Given the description of an element on the screen output the (x, y) to click on. 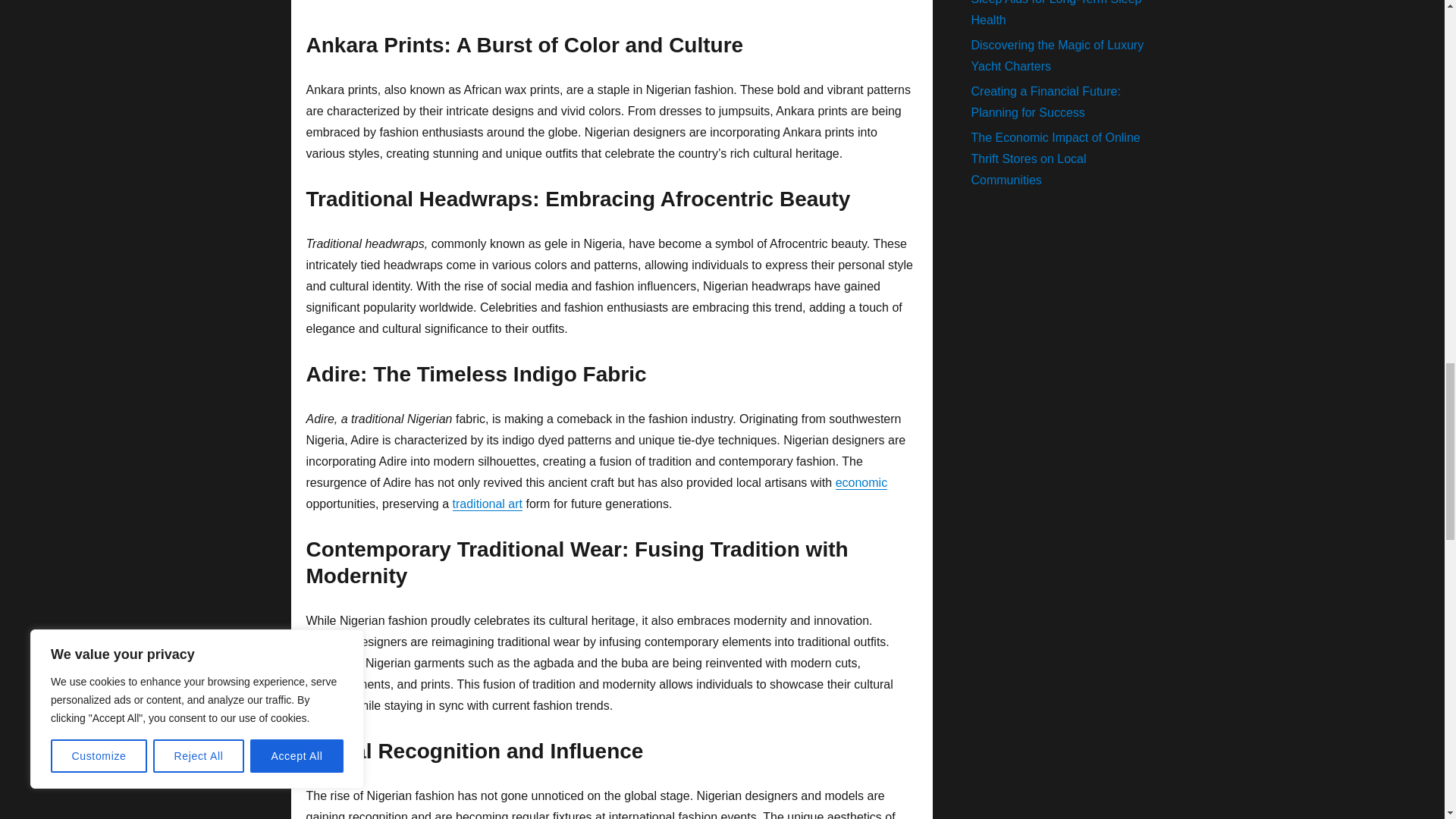
economic (860, 481)
traditional art (486, 503)
